Given the description of an element on the screen output the (x, y) to click on. 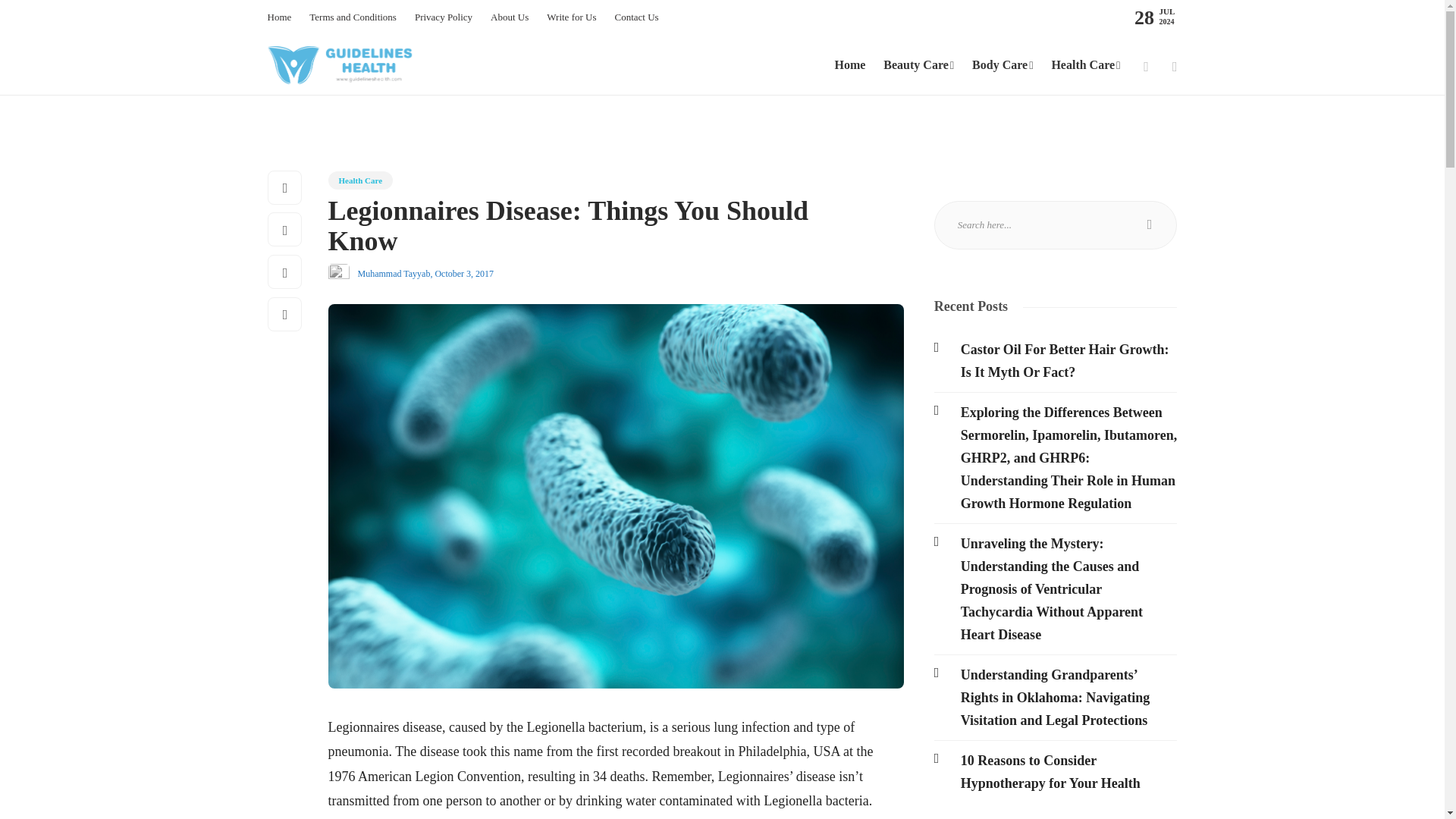
Search text (1055, 224)
Terms and Conditions (352, 17)
About Us (509, 17)
Contact Us (636, 17)
Privacy Policy (442, 17)
Write for Us (571, 17)
